Given the description of an element on the screen output the (x, y) to click on. 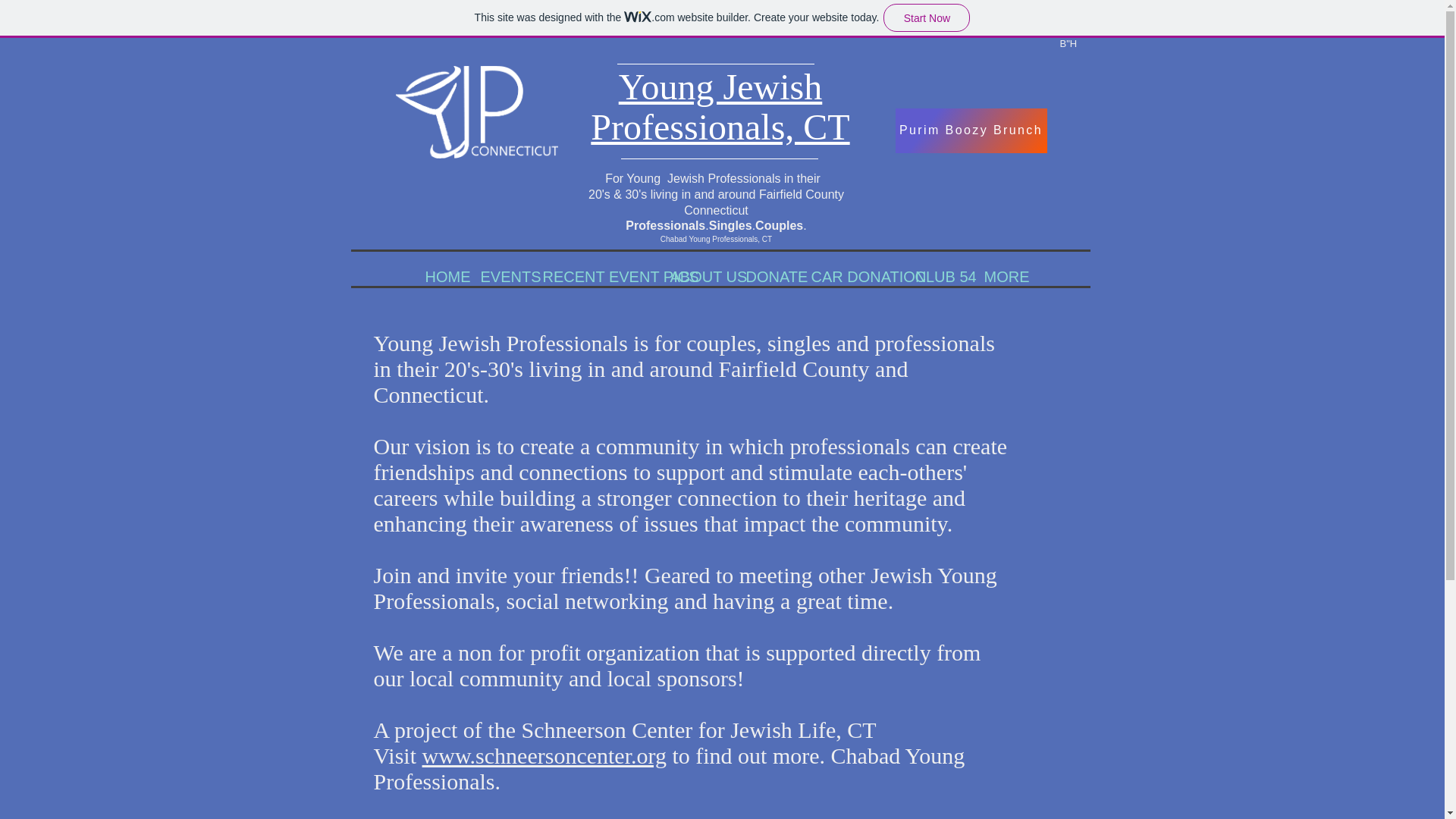
HOME (440, 276)
CAR DONATION (850, 276)
networking for jewish 20's and 30's (476, 112)
MORE (999, 276)
CLUB 54 (938, 276)
www.schneersoncenter.org (544, 755)
Young Jewish Professionals, CT (719, 106)
Purim Boozy Brunch (970, 130)
ABOUT US (695, 276)
DONATE (766, 276)
RECENT EVENT PICS (594, 276)
